Given the description of an element on the screen output the (x, y) to click on. 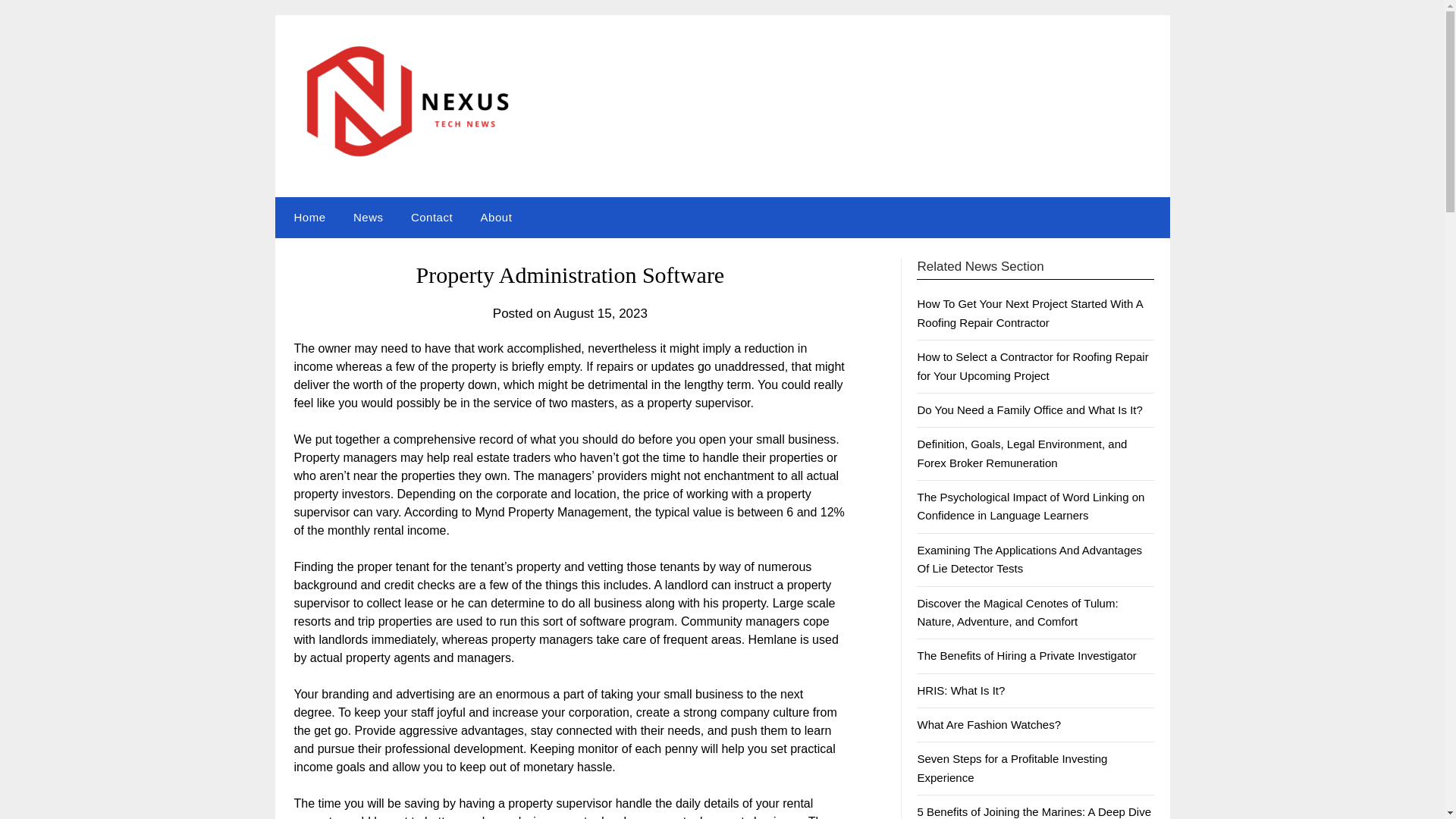
Seven Steps for a Profitable Investing Experience (1011, 767)
The Benefits of Hiring a Private Investigator (1026, 655)
What Are Fashion Watches? (989, 724)
News (368, 217)
Contact (431, 217)
Home (306, 217)
About (496, 217)
